Given the description of an element on the screen output the (x, y) to click on. 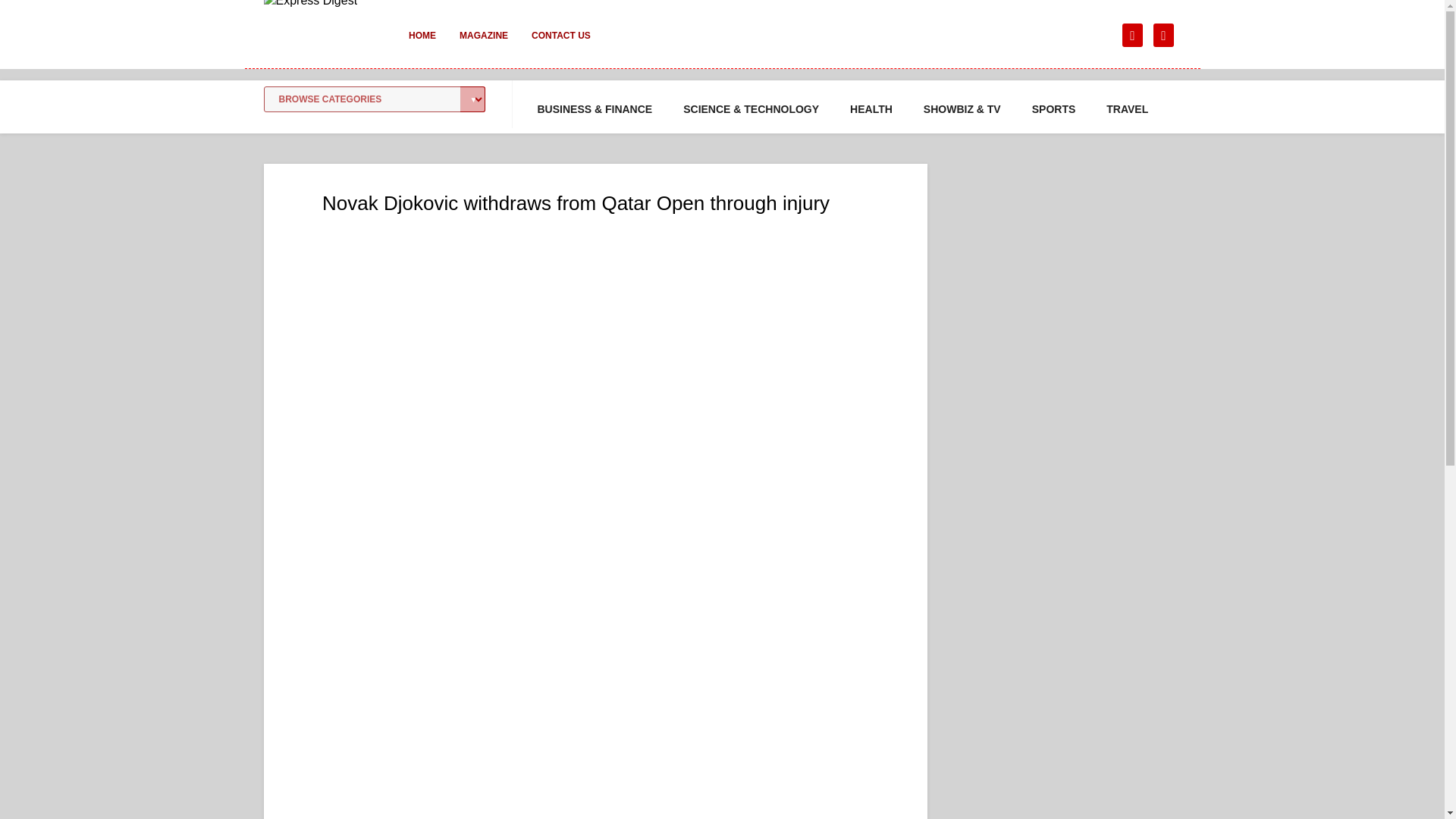
TRAVEL (1127, 109)
HEALTH (871, 109)
CONTACT US (560, 45)
MAGAZINE (482, 45)
SPORTS (1053, 109)
